Given the description of an element on the screen output the (x, y) to click on. 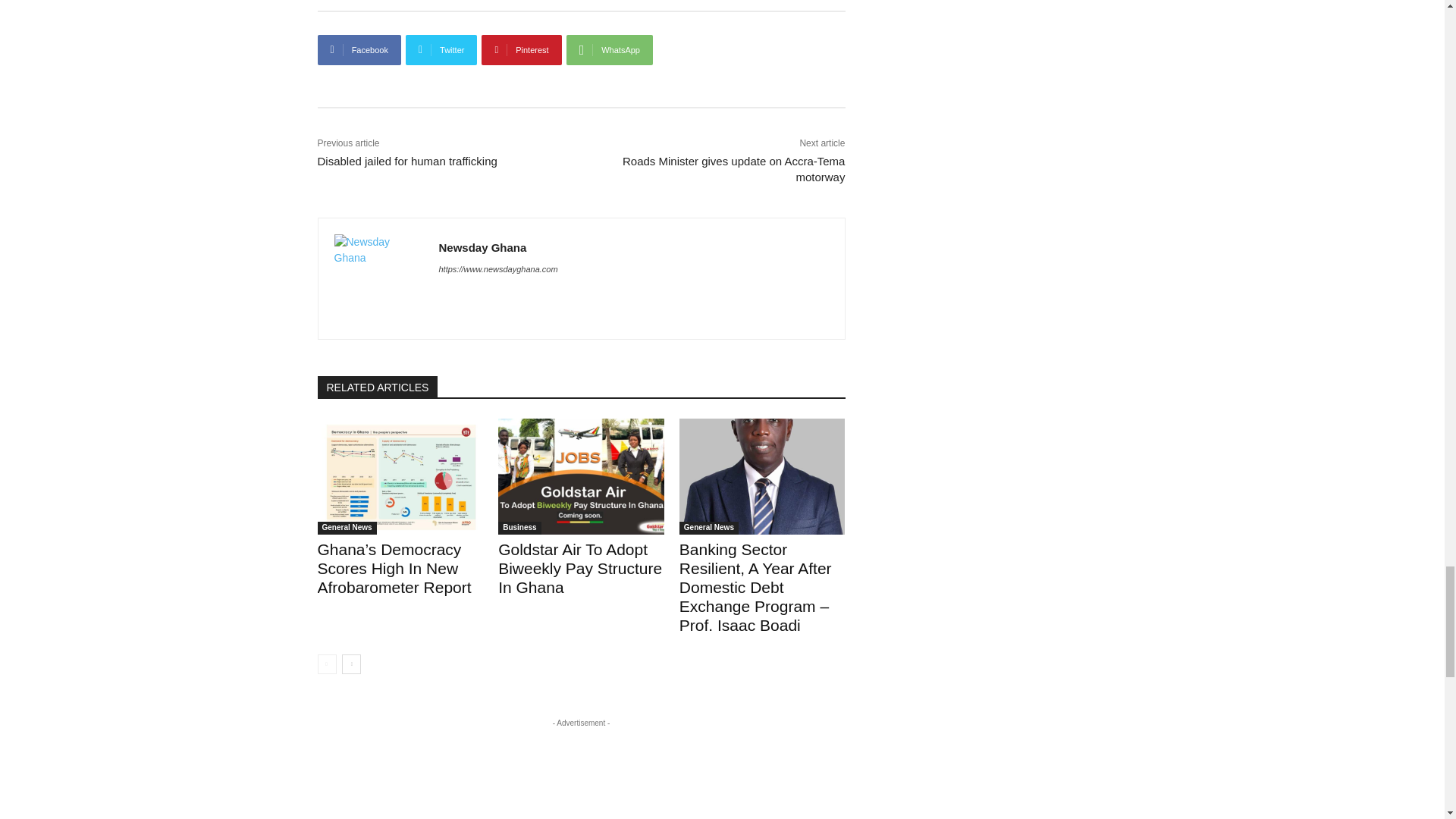
Twitter (441, 50)
Facebook (358, 50)
